Given the description of an element on the screen output the (x, y) to click on. 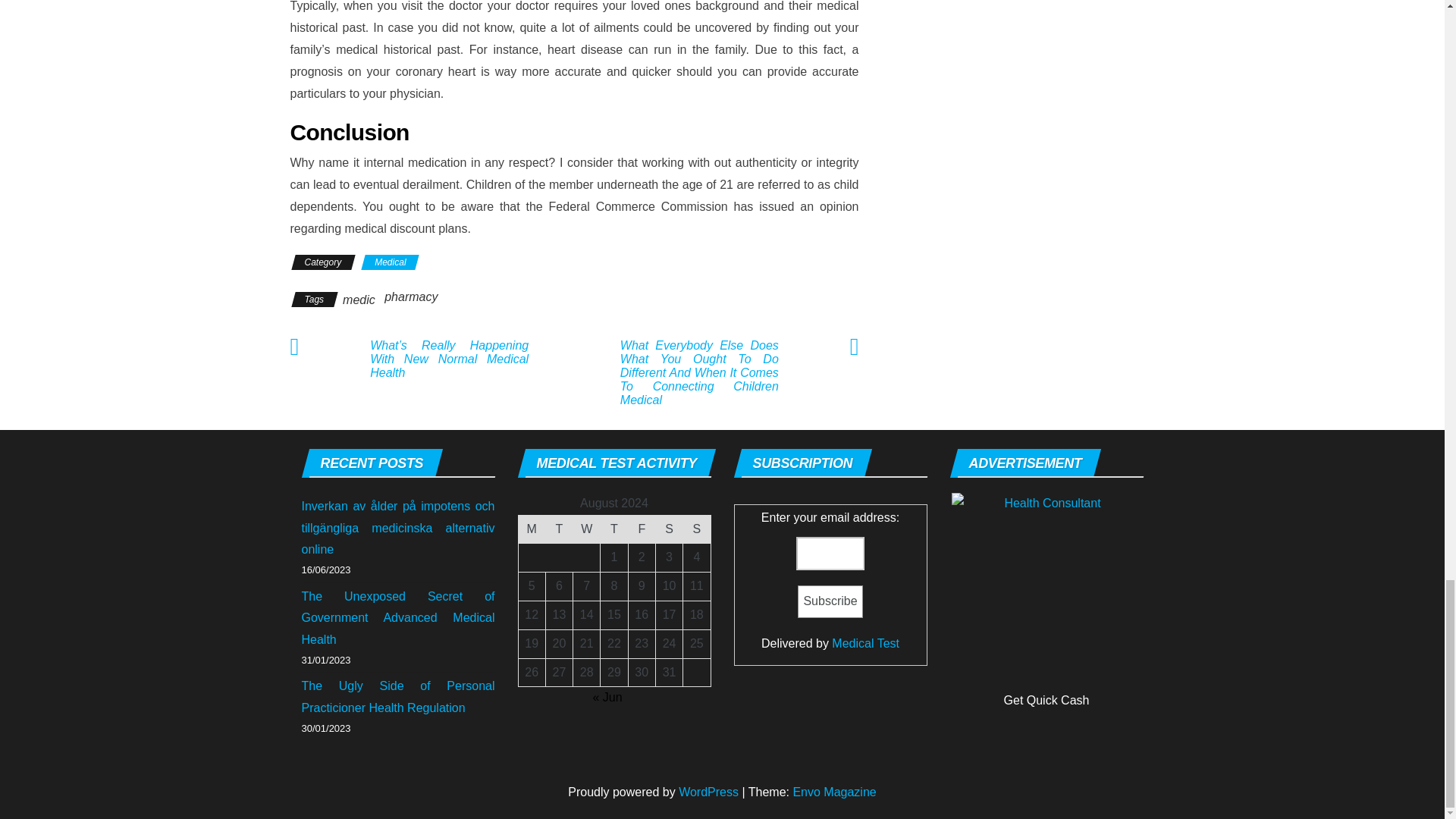
Medical (389, 262)
pharmacy (411, 296)
Subscribe (829, 601)
medic (358, 299)
